Given the description of an element on the screen output the (x, y) to click on. 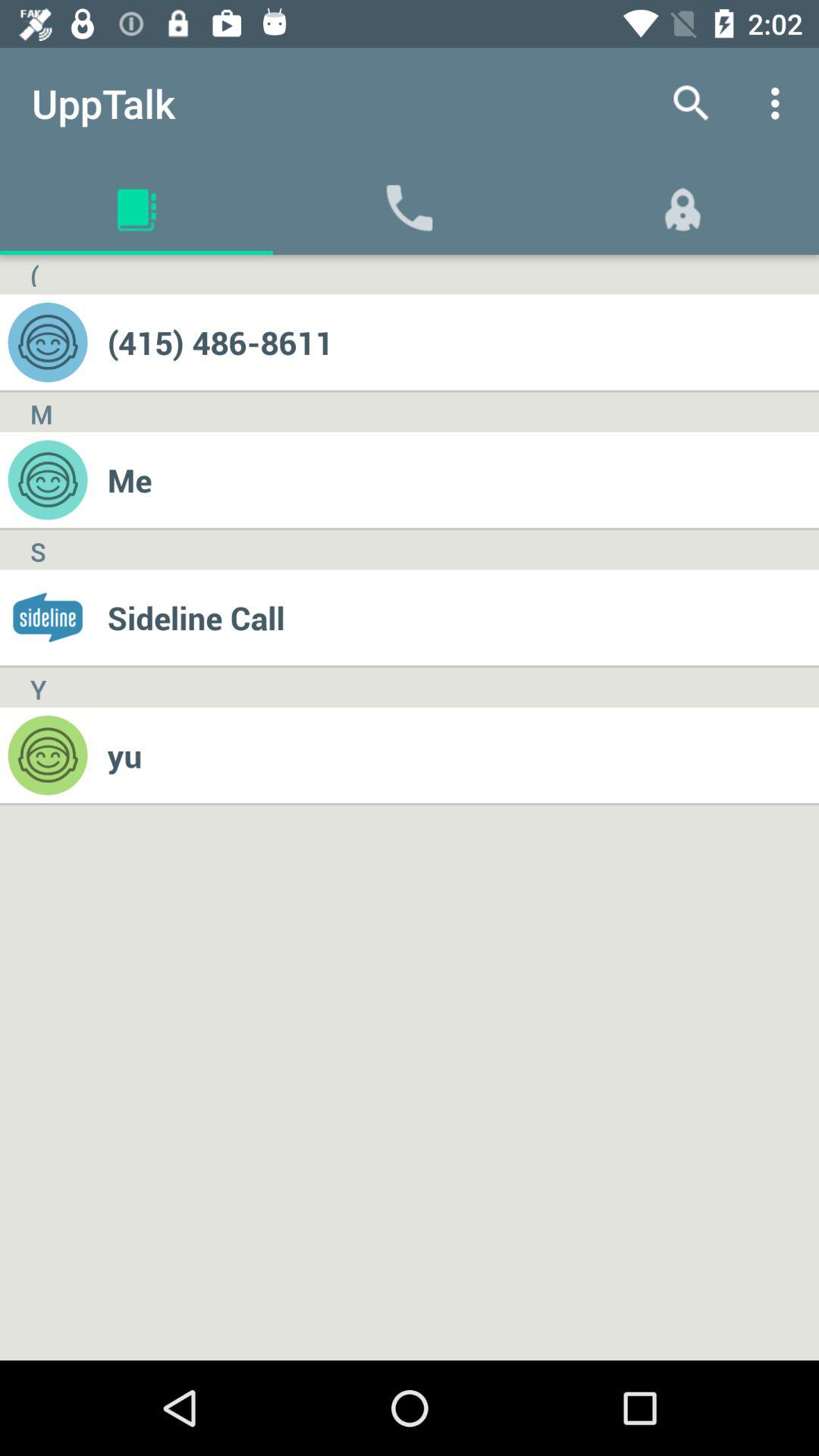
tap item below the (415) 486-8611 icon (463, 479)
